Given the description of an element on the screen output the (x, y) to click on. 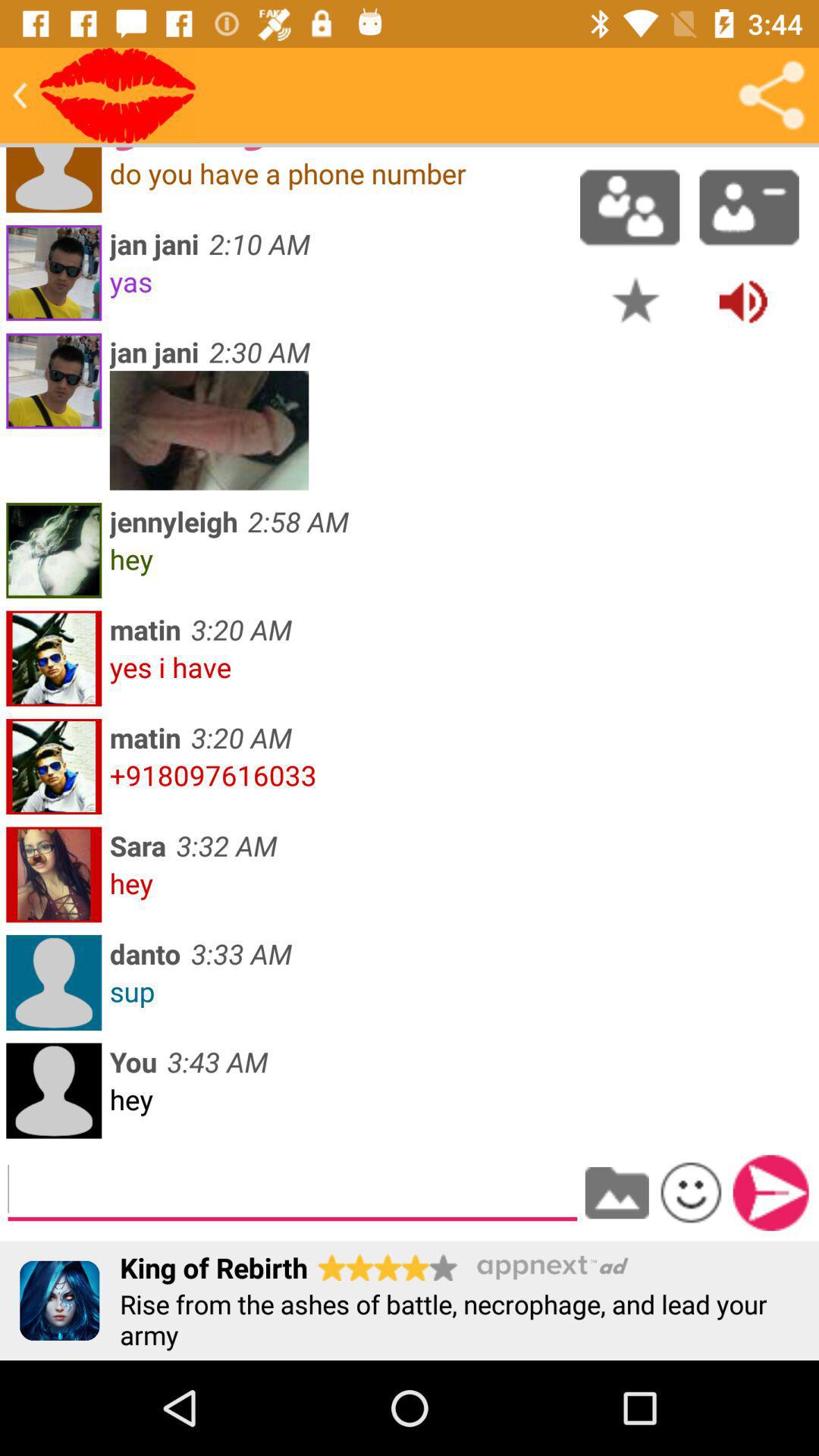
go back (19, 95)
